Given the description of an element on the screen output the (x, y) to click on. 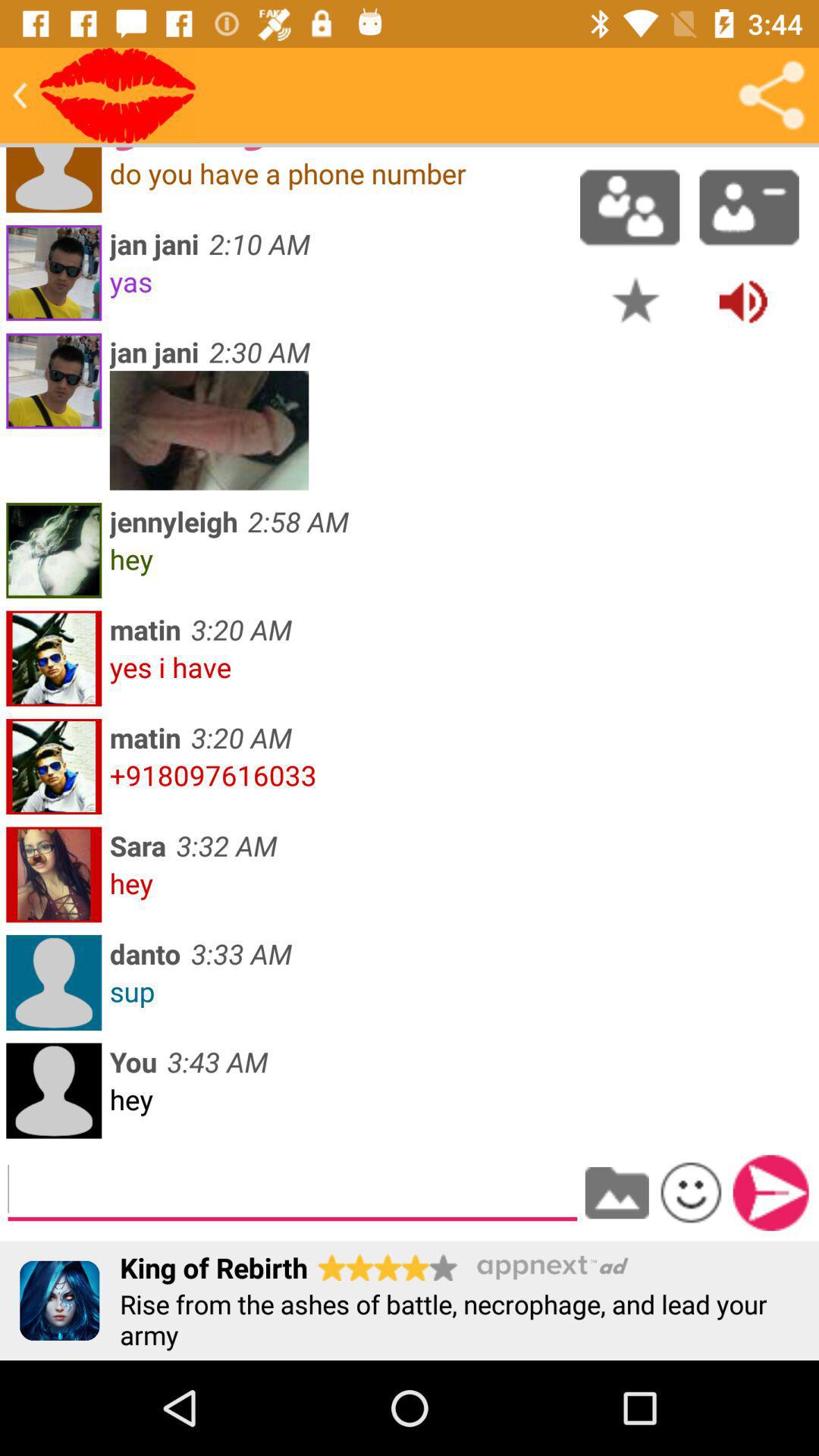
go back (19, 95)
